Given the description of an element on the screen output the (x, y) to click on. 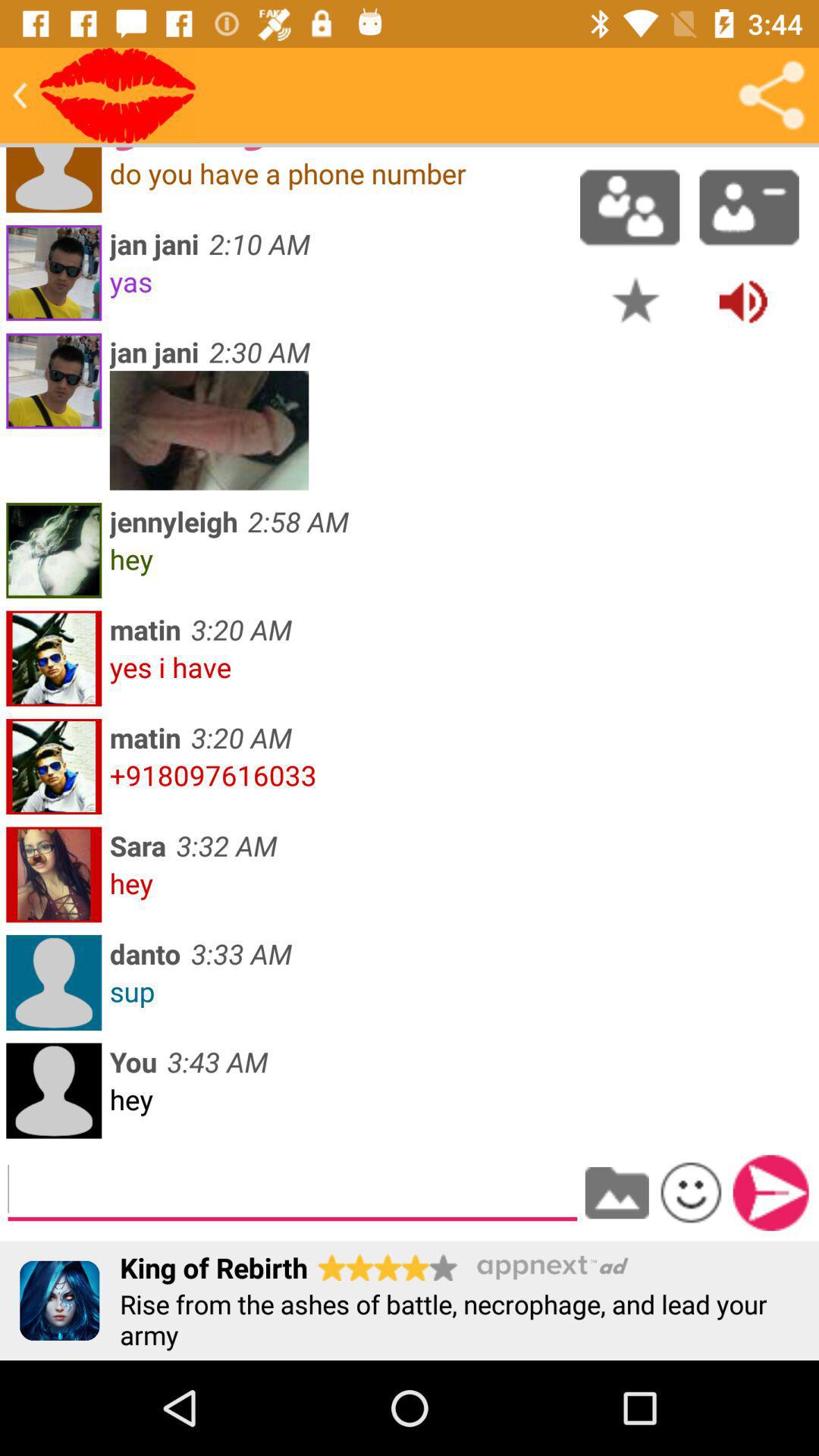
go back (19, 95)
